Given the description of an element on the screen output the (x, y) to click on. 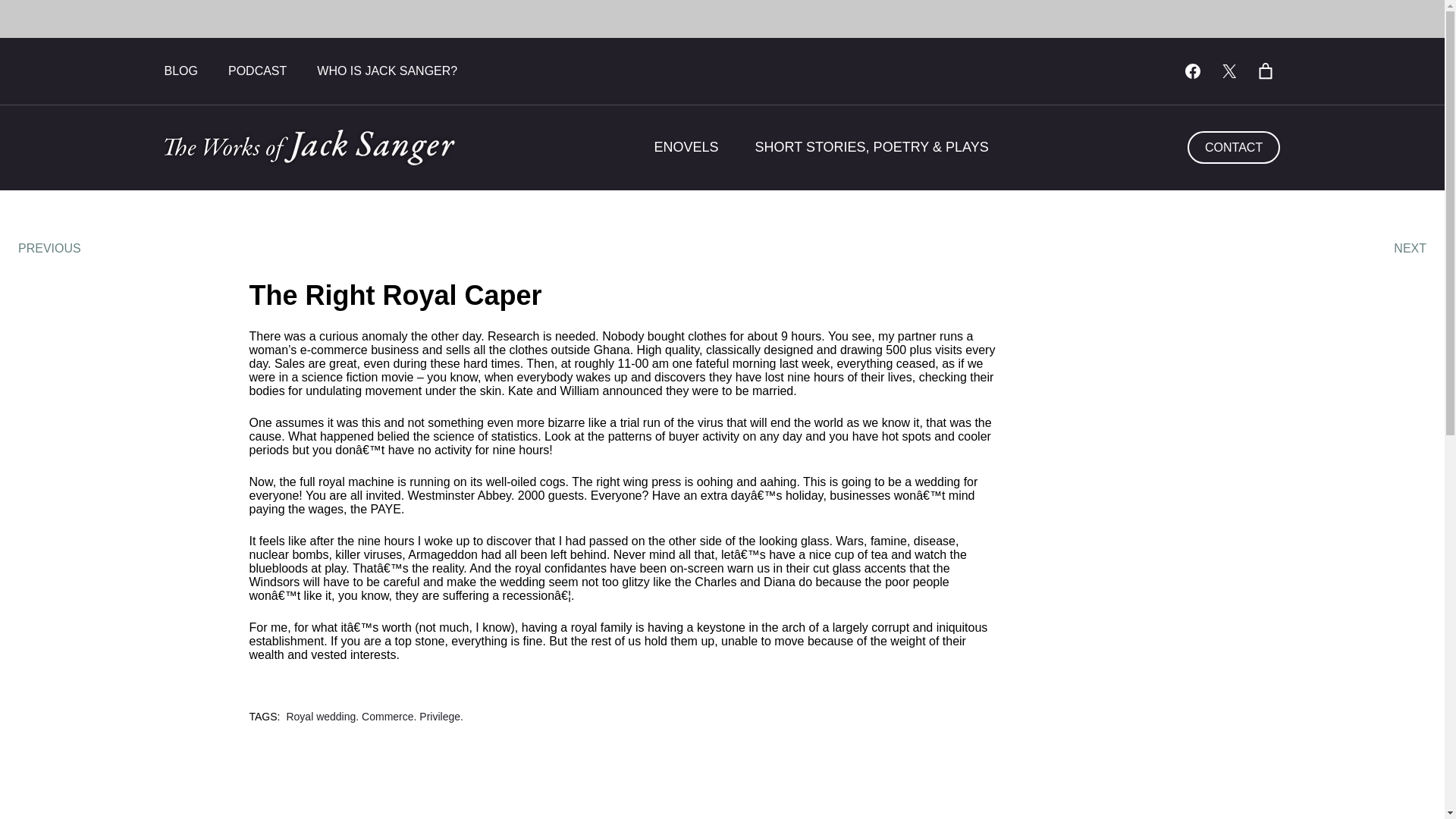
X (1228, 71)
Facebook (1191, 71)
CONTACT (1234, 147)
ENOVELS (686, 147)
NEXT (1409, 248)
WHO IS JACK SANGER? (387, 70)
Royal wedding. Commerce. Privilege. (374, 716)
PREVIOUS (49, 248)
PODCAST (257, 70)
BLOG (179, 70)
